Given the description of an element on the screen output the (x, y) to click on. 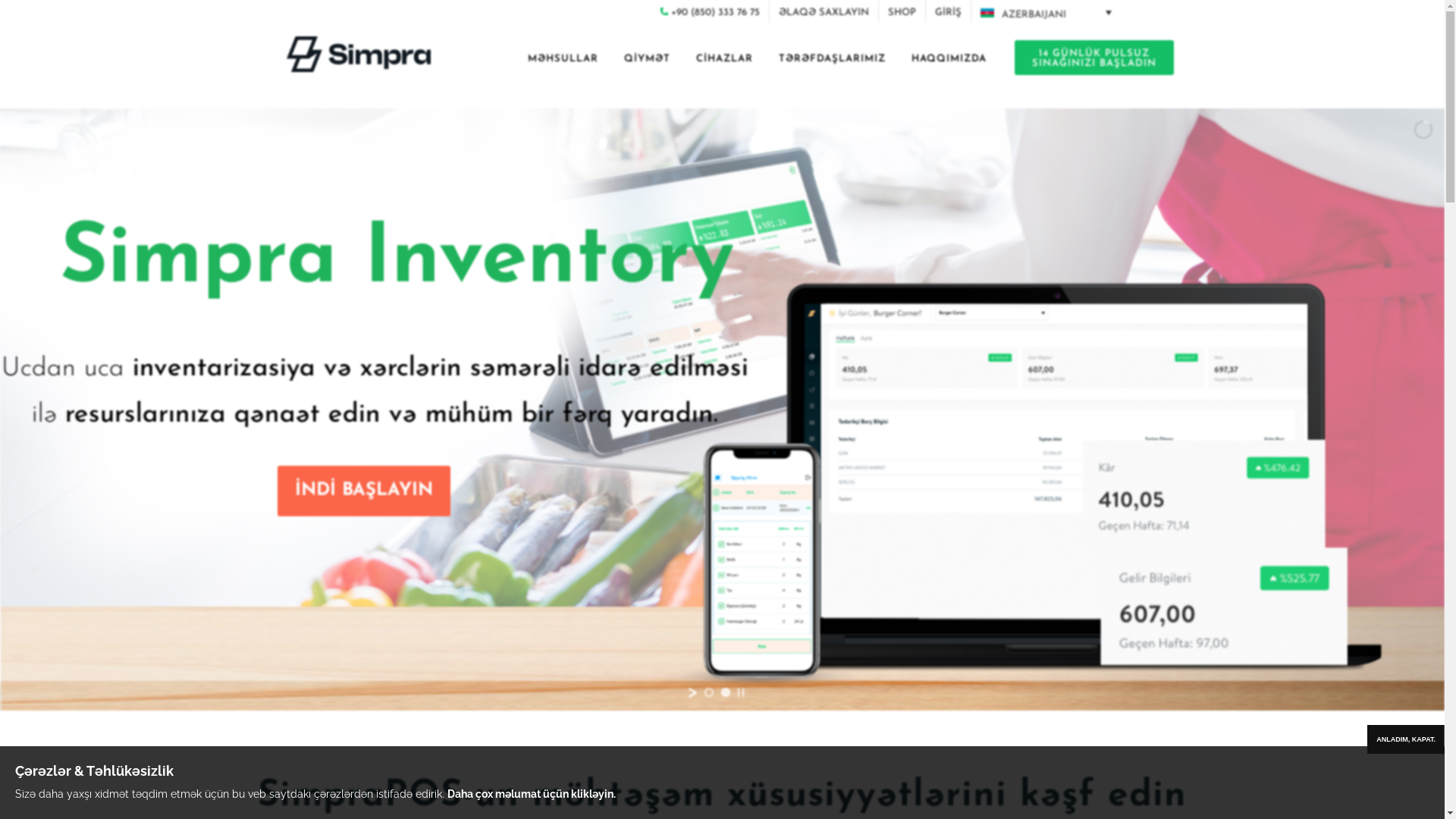
+90 (850) 333 76 75 Element type: text (714, 12)
SHOP Element type: text (901, 12)
HAQQIMIZDA Element type: text (947, 60)
CIHAZLAR Element type: text (723, 60)
